Given the description of an element on the screen output the (x, y) to click on. 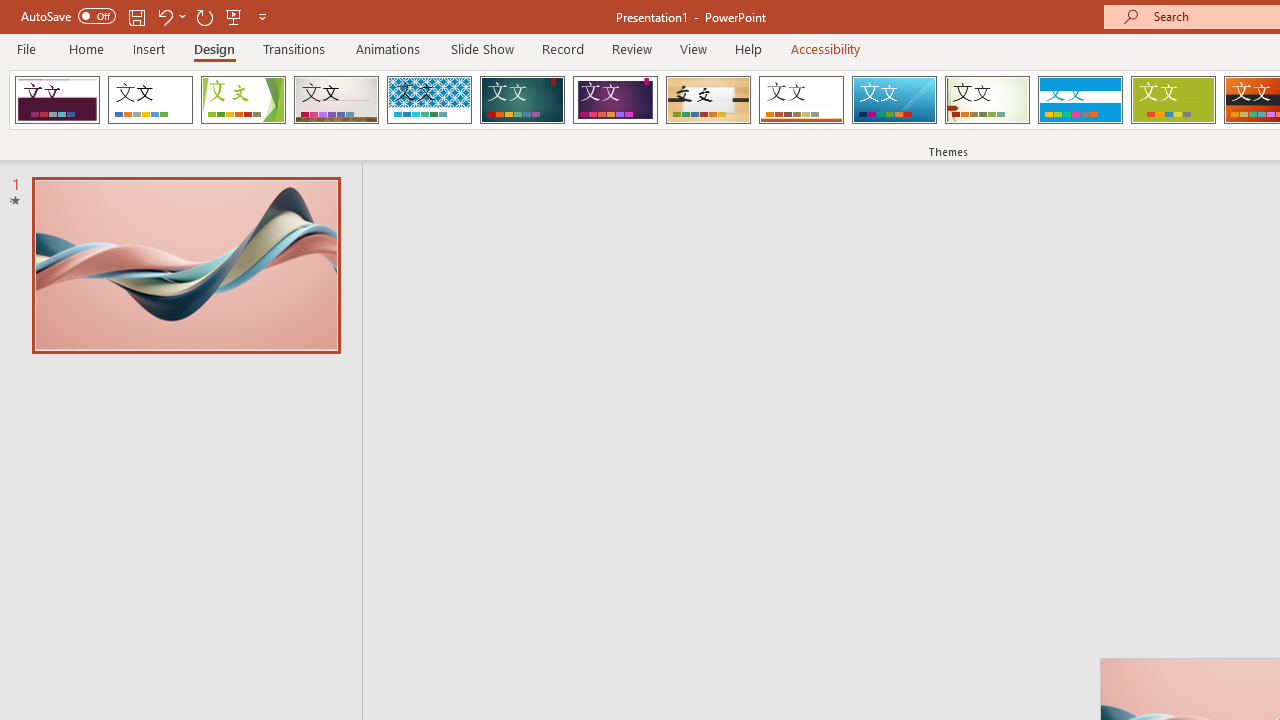
Ion Boardroom (615, 100)
Banded (1080, 100)
Retrospect (801, 100)
